Given the description of an element on the screen output the (x, y) to click on. 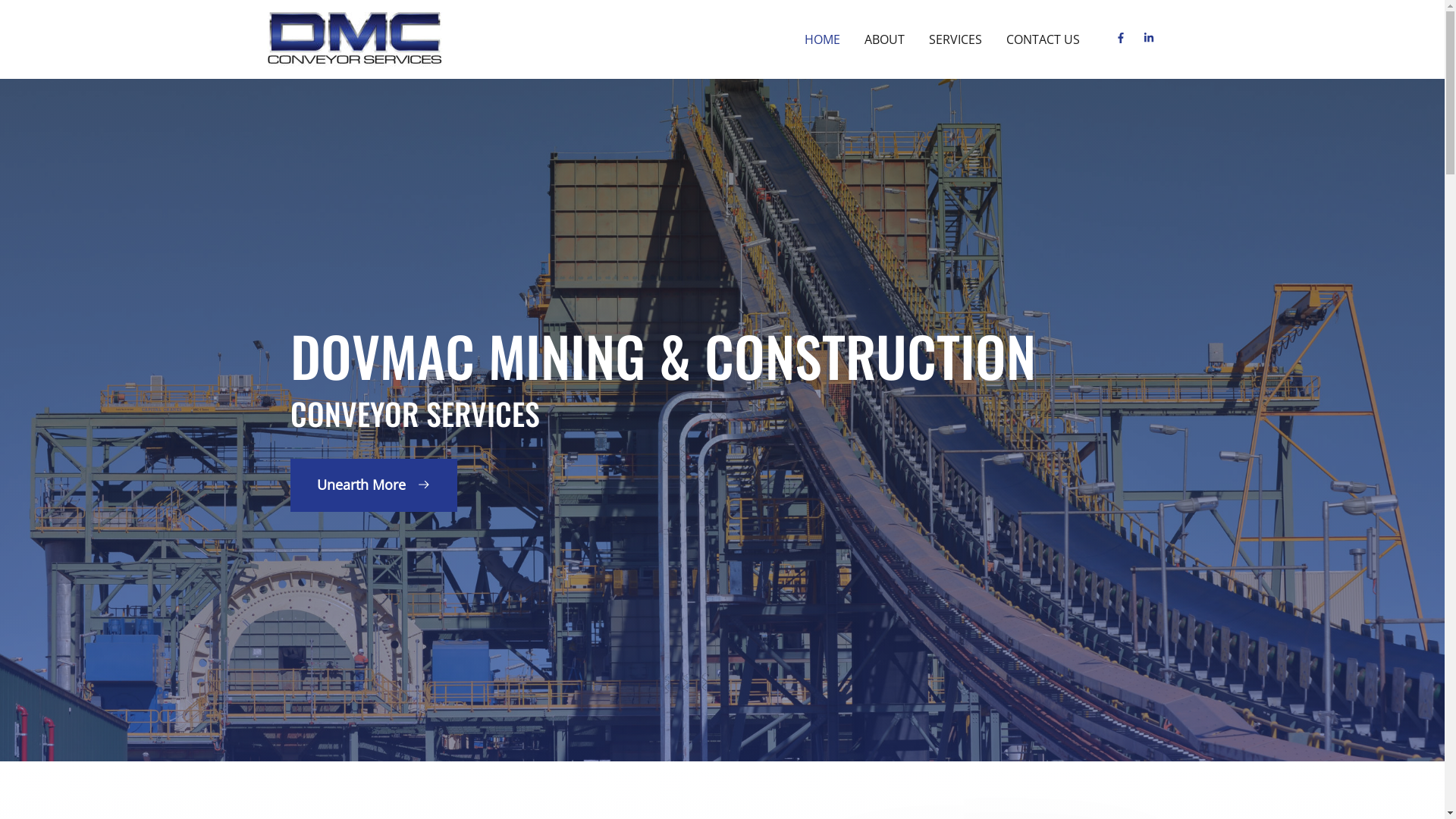
HOME Element type: text (821, 39)
CONTACT US Element type: text (1042, 39)
ABOUT Element type: text (884, 39)
SERVICES Element type: text (954, 39)
Unearth More Element type: text (372, 484)
